Given the description of an element on the screen output the (x, y) to click on. 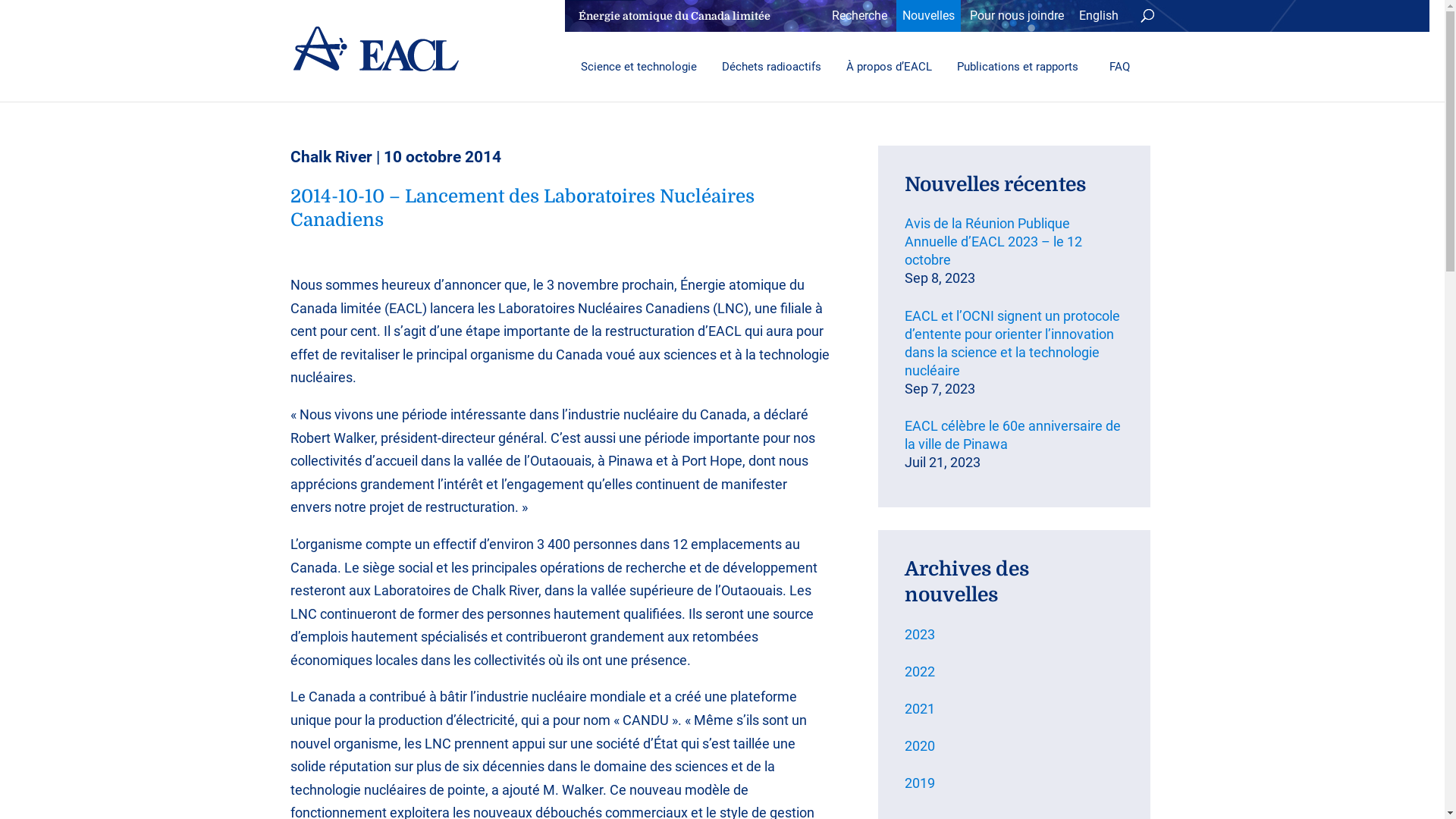
2022 Element type: text (1013, 671)
2019 Element type: text (1013, 783)
2020 Element type: text (1013, 746)
Skip to content Element type: text (0, 0)
2023 Element type: text (1013, 634)
Nouvelles Element type: text (928, 15)
FAQ Element type: text (1119, 66)
2021 Element type: text (1013, 708)
Publications et rapports Element type: text (1016, 66)
Pour nous joindre Element type: text (1016, 15)
Recherche Element type: text (858, 15)
English Element type: text (1097, 15)
Chalk River Element type: text (330, 156)
Science et technologie Element type: text (634, 66)
